Given the description of an element on the screen output the (x, y) to click on. 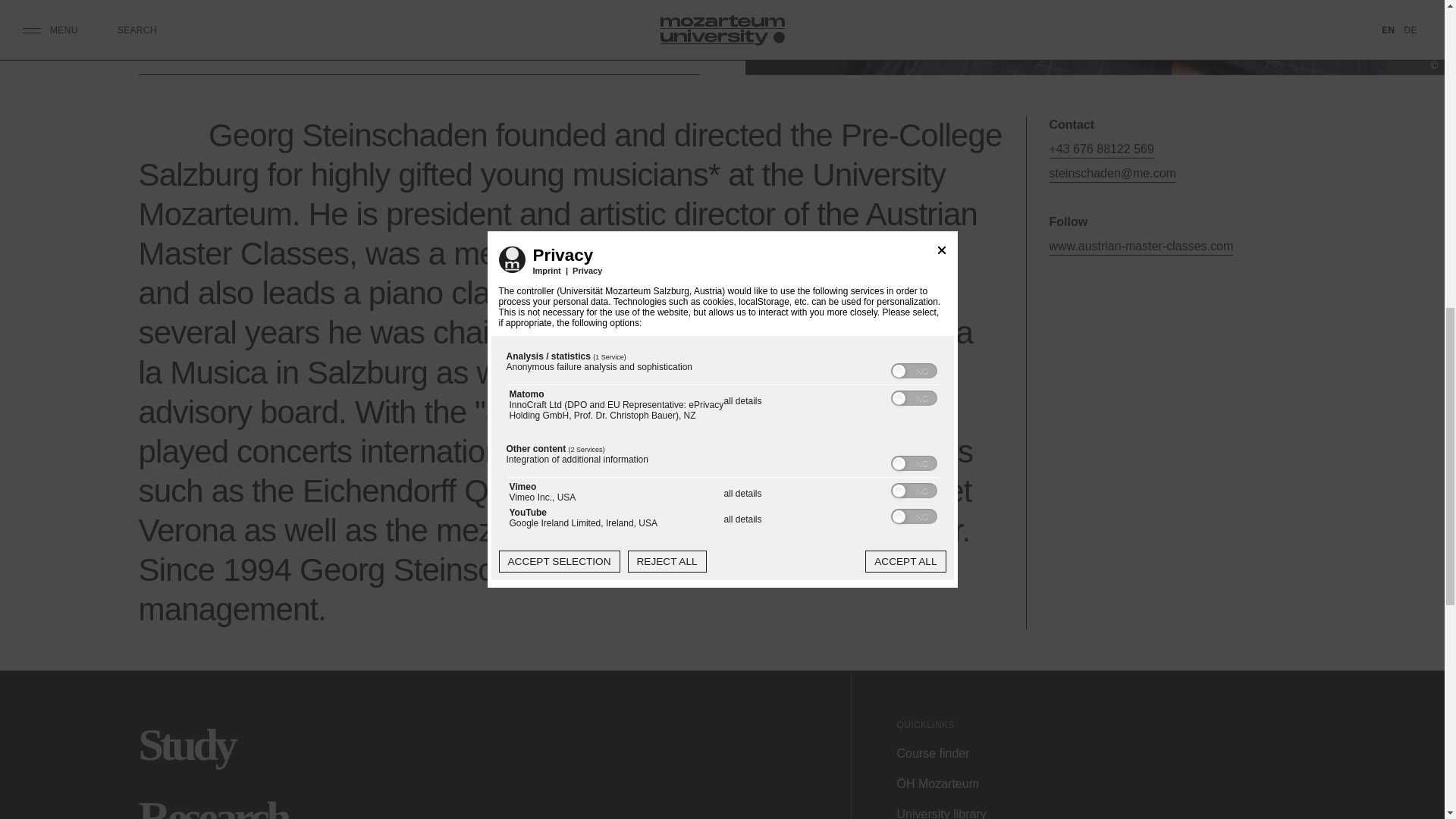
Pre-College (503, 51)
www.austrian-master-classes.com (1141, 246)
Department Keyboard Studies (370, 51)
